Given the description of an element on the screen output the (x, y) to click on. 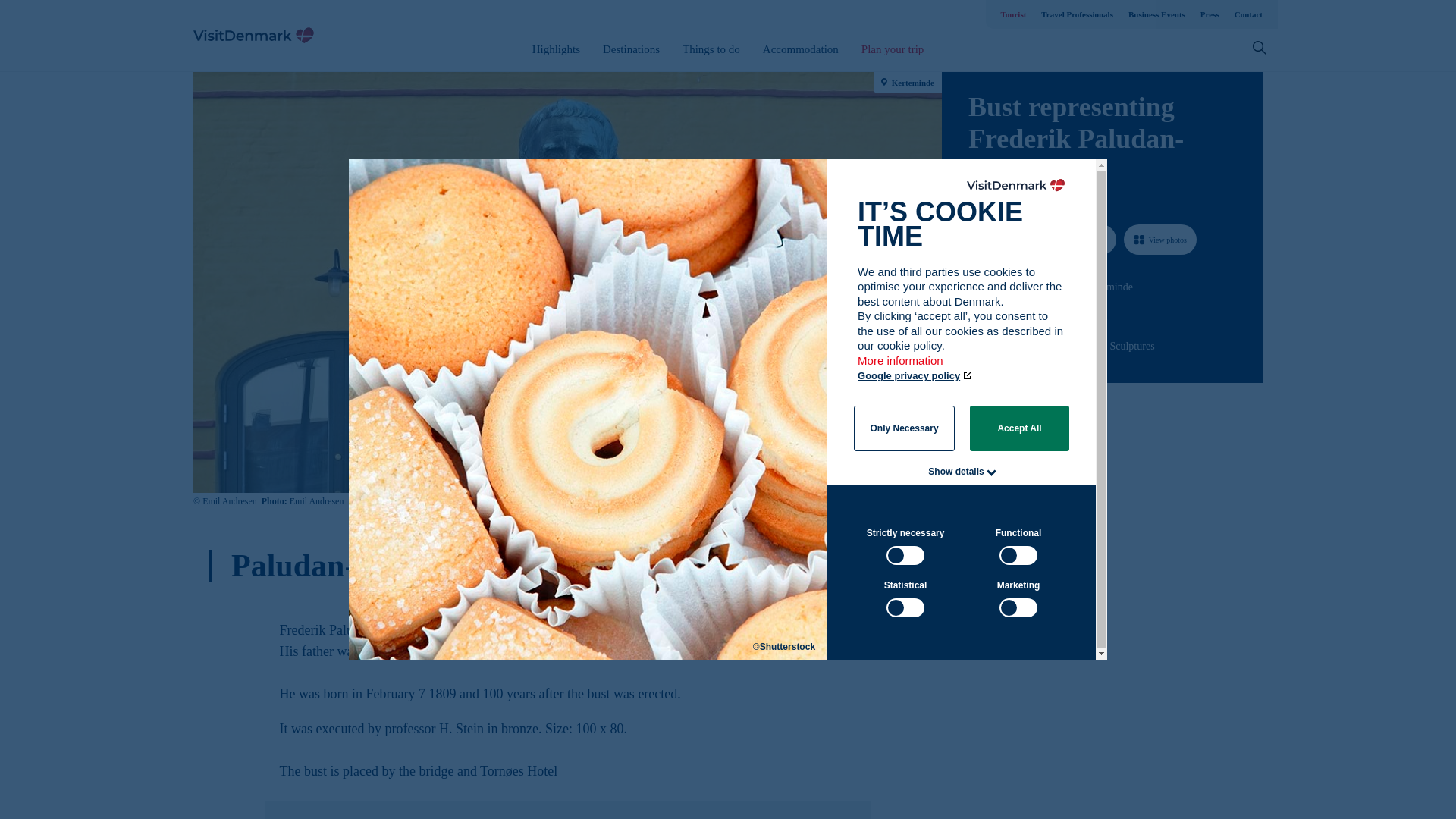
More information (900, 367)
Google privacy policy (915, 375)
Accept All (1018, 428)
Only Necessary (904, 428)
Show details (956, 471)
